Given the description of an element on the screen output the (x, y) to click on. 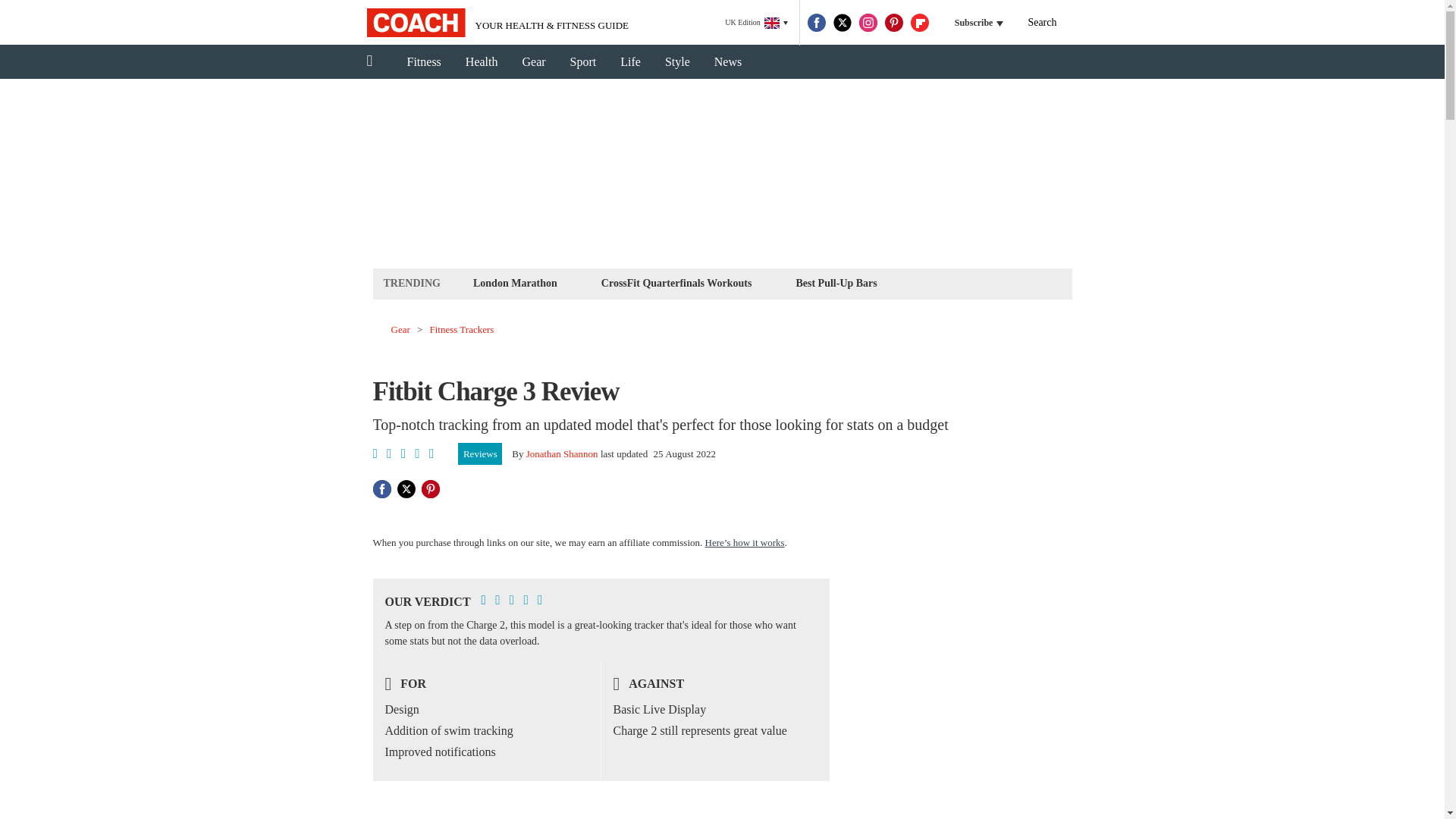
UK Edition (755, 22)
Jonathan Shannon (561, 453)
News (727, 61)
Health (481, 61)
Fitness (423, 61)
Reviews (480, 454)
Fitness Trackers (462, 328)
Best Pull-Up Bars (836, 282)
London Marathon (514, 282)
Sport (582, 61)
